Given the description of an element on the screen output the (x, y) to click on. 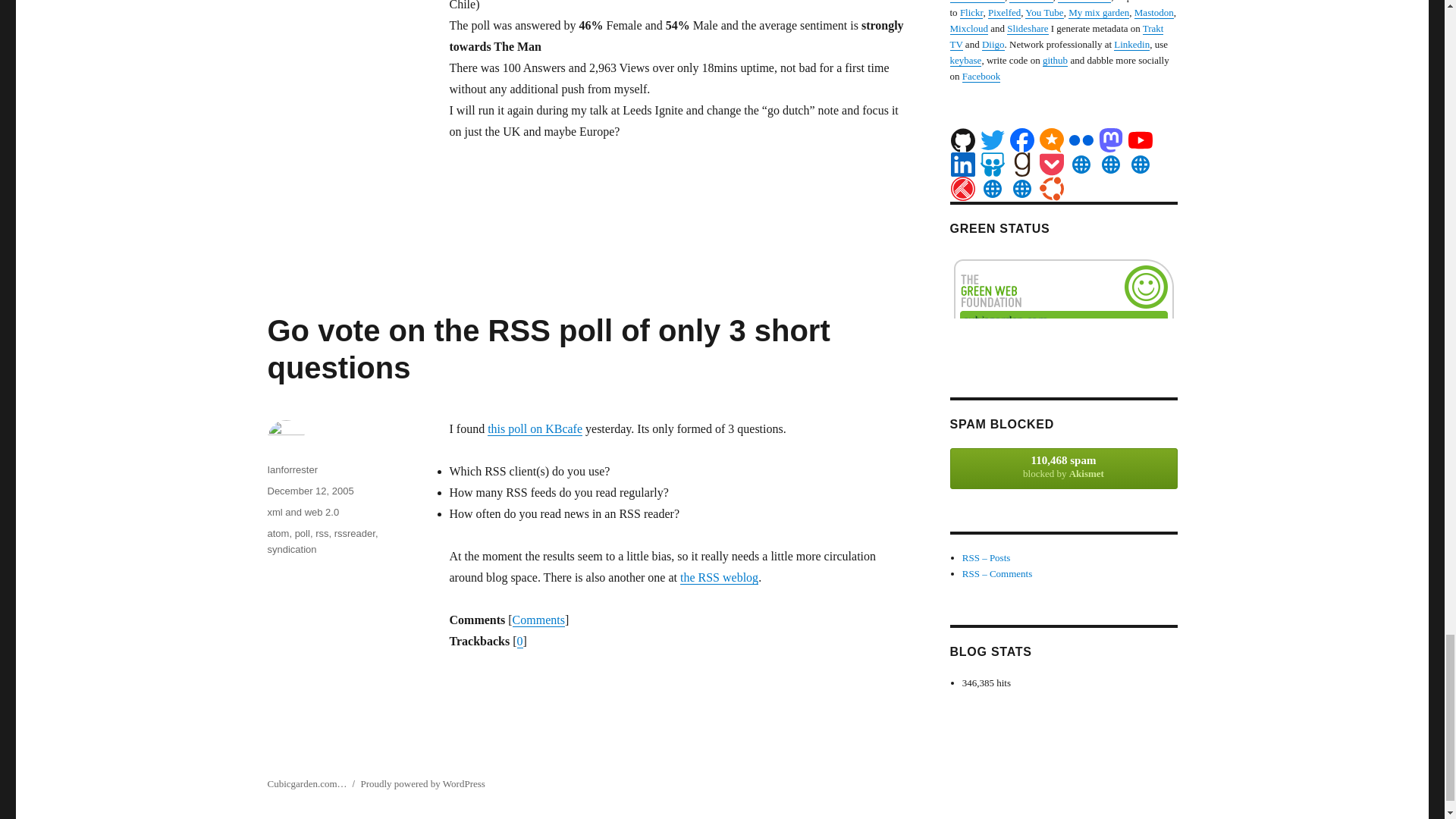
Mastodon (1109, 139)
LinkedIn (962, 164)
Ubuntu (1050, 188)
Pocket (1050, 164)
YouTube (1140, 139)
Trakt (962, 188)
SlideShare (991, 164)
Goodreads (1021, 164)
Facebook (1021, 139)
Micro.blog (1050, 139)
